Given the description of an element on the screen output the (x, y) to click on. 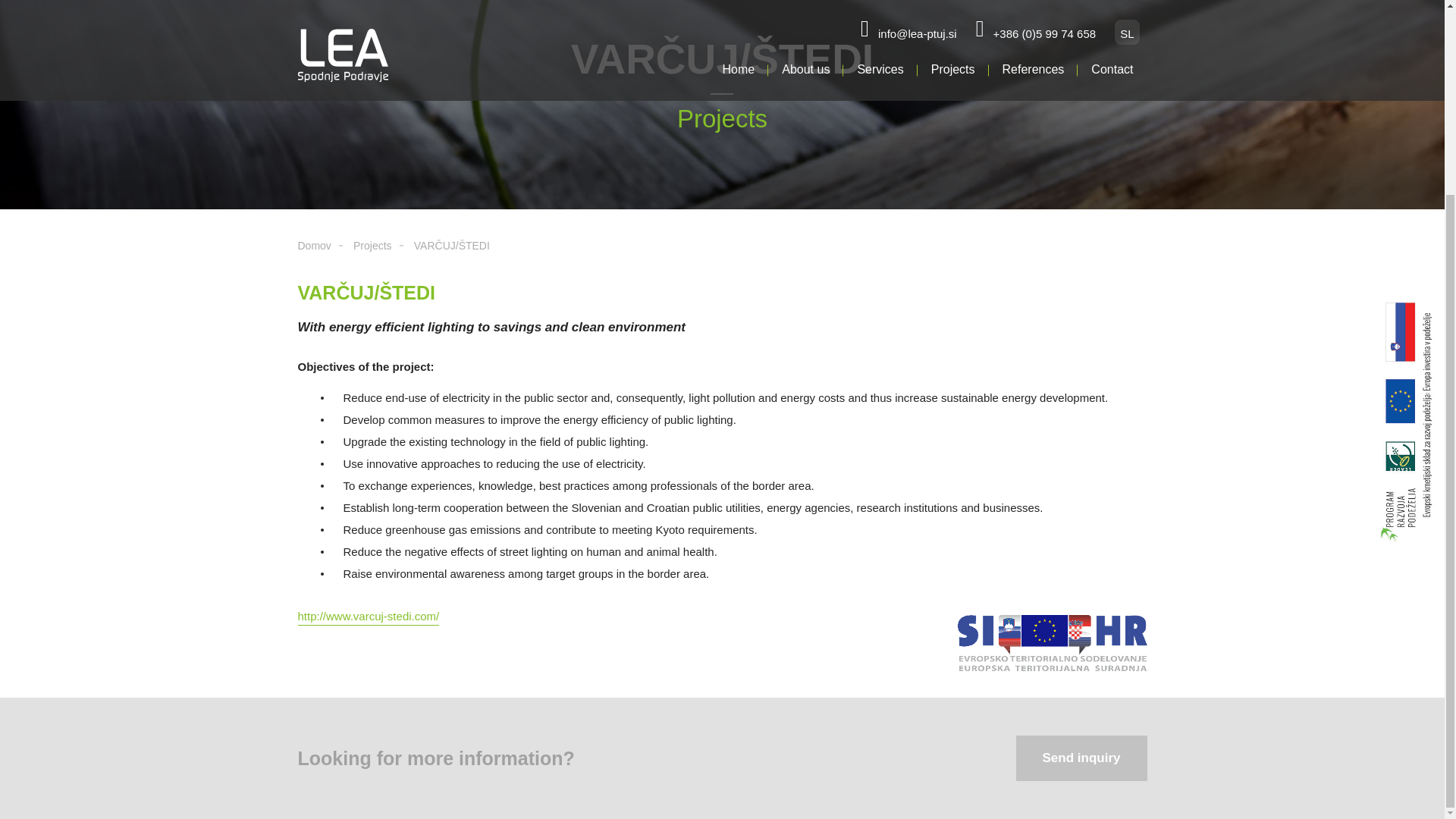
REGIO1ST (712, 350)
SEAP (1026, 332)
Projects (372, 245)
CSSC LAb (711, 369)
Send inquiry (1081, 758)
Domov (313, 245)
Energetski pregledi (1060, 350)
JETforCE (708, 332)
CEESEU (707, 387)
Energetske izkaznice (1065, 387)
Lokalni energetski koncept (1079, 314)
DETOCS (707, 314)
ARMDESIGN (1112, 551)
Aktualno (710, 425)
Energetsko knjigovodstvo (1076, 369)
